Given the description of an element on the screen output the (x, y) to click on. 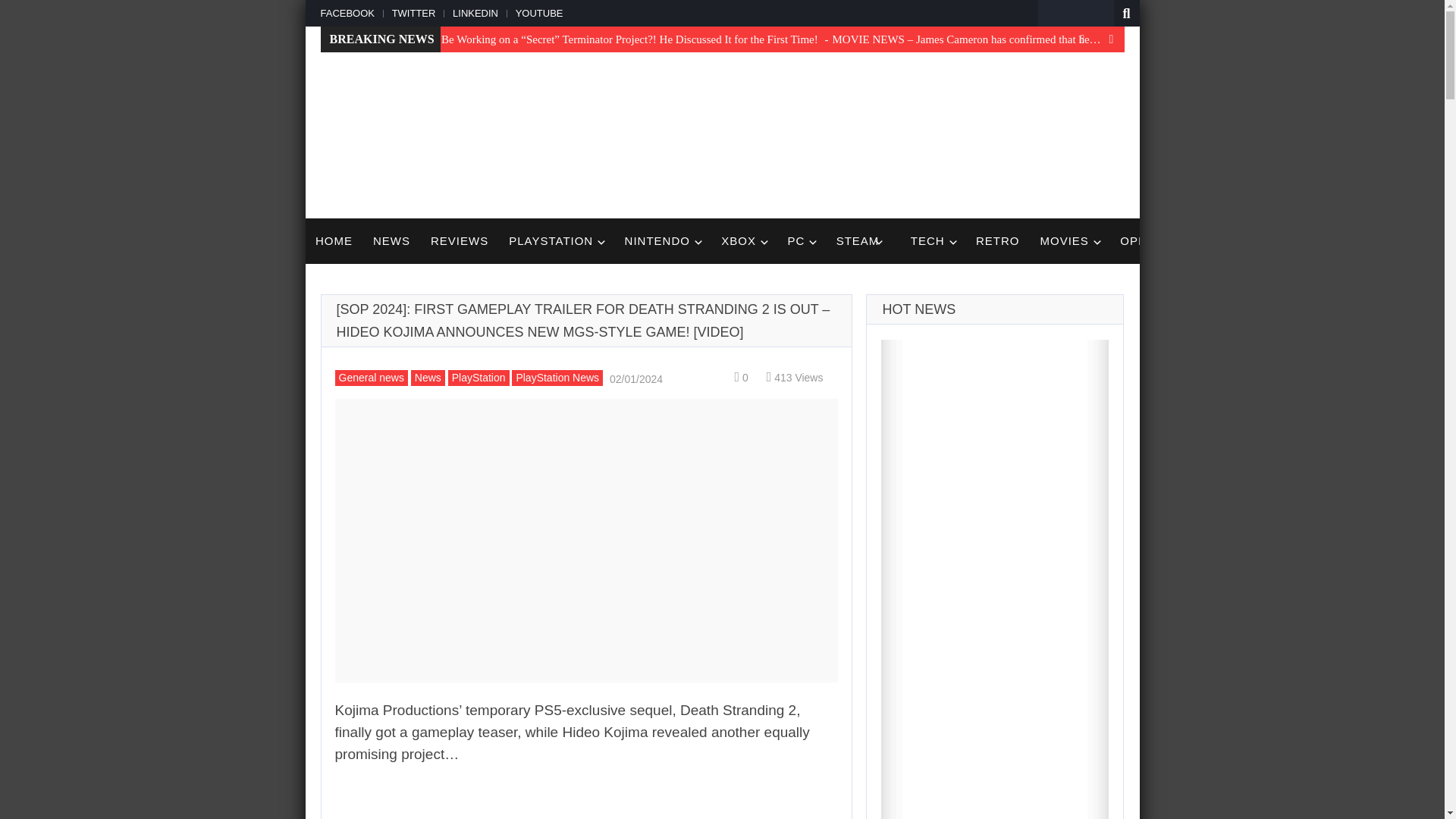
FACEBOOK (350, 12)
YOUTUBE (537, 12)
TWITTER (411, 12)
Advertisement (848, 133)
LINKEDIN (473, 12)
6:32 am (633, 377)
